Given the description of an element on the screen output the (x, y) to click on. 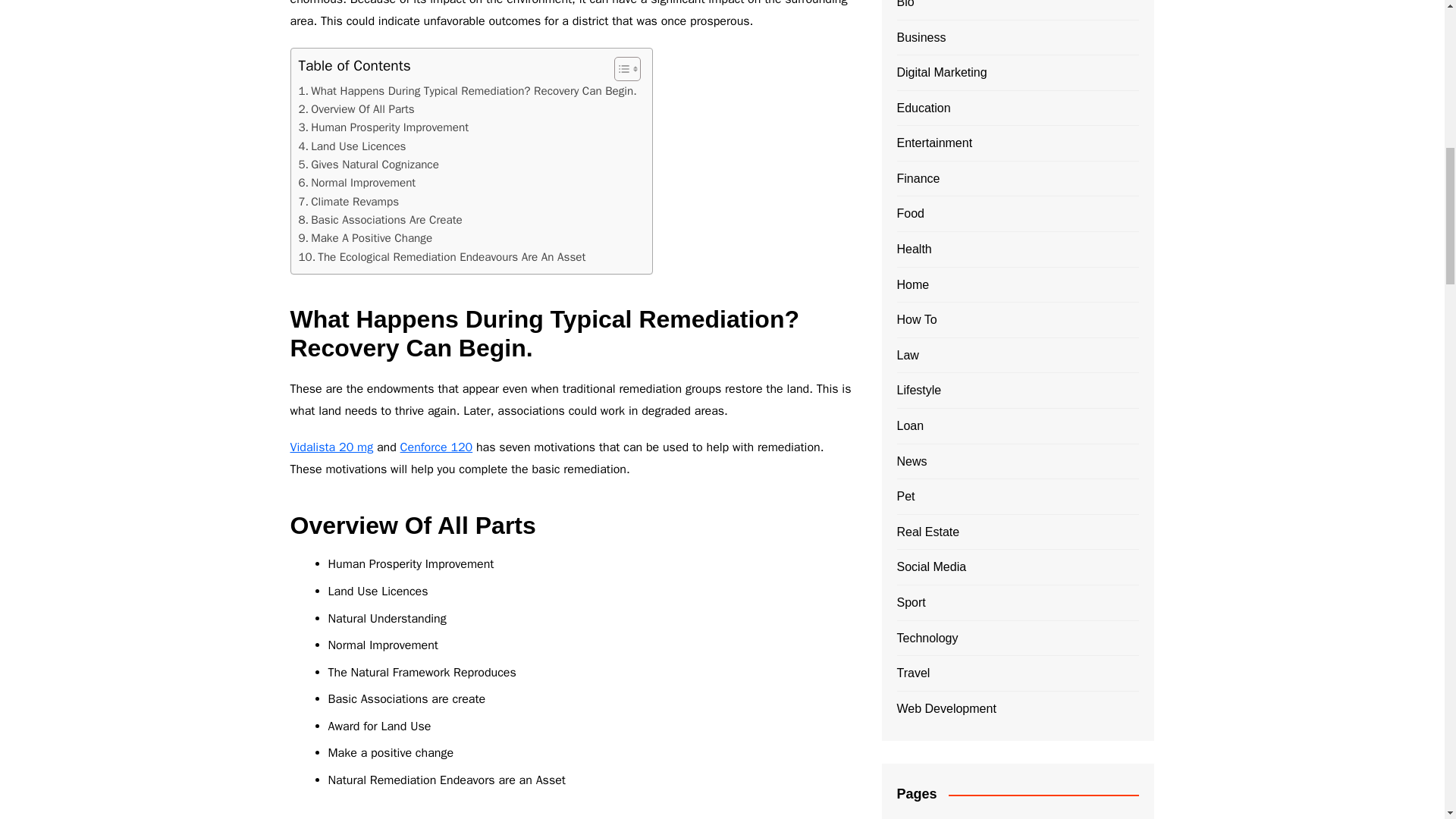
Gives Natural Cognizance (368, 164)
Human Prosperity Improvement (383, 126)
The Ecological Remediation Endeavours Are An Asset (442, 257)
What Happens During Typical Remediation? Recovery Can Begin. (467, 90)
Gives Natural Cognizance (368, 164)
Cenforce 120 (436, 447)
The Ecological Remediation Endeavours Are An Asset (442, 257)
Normal Improvement (357, 182)
Vidalista 20 mg (330, 447)
Make A Positive Change (365, 238)
Climate Revamps (348, 201)
Basic Associations Are Create (380, 219)
Normal Improvement (357, 182)
Land Use Licences (352, 146)
Overview Of All Parts (356, 108)
